Given the description of an element on the screen output the (x, y) to click on. 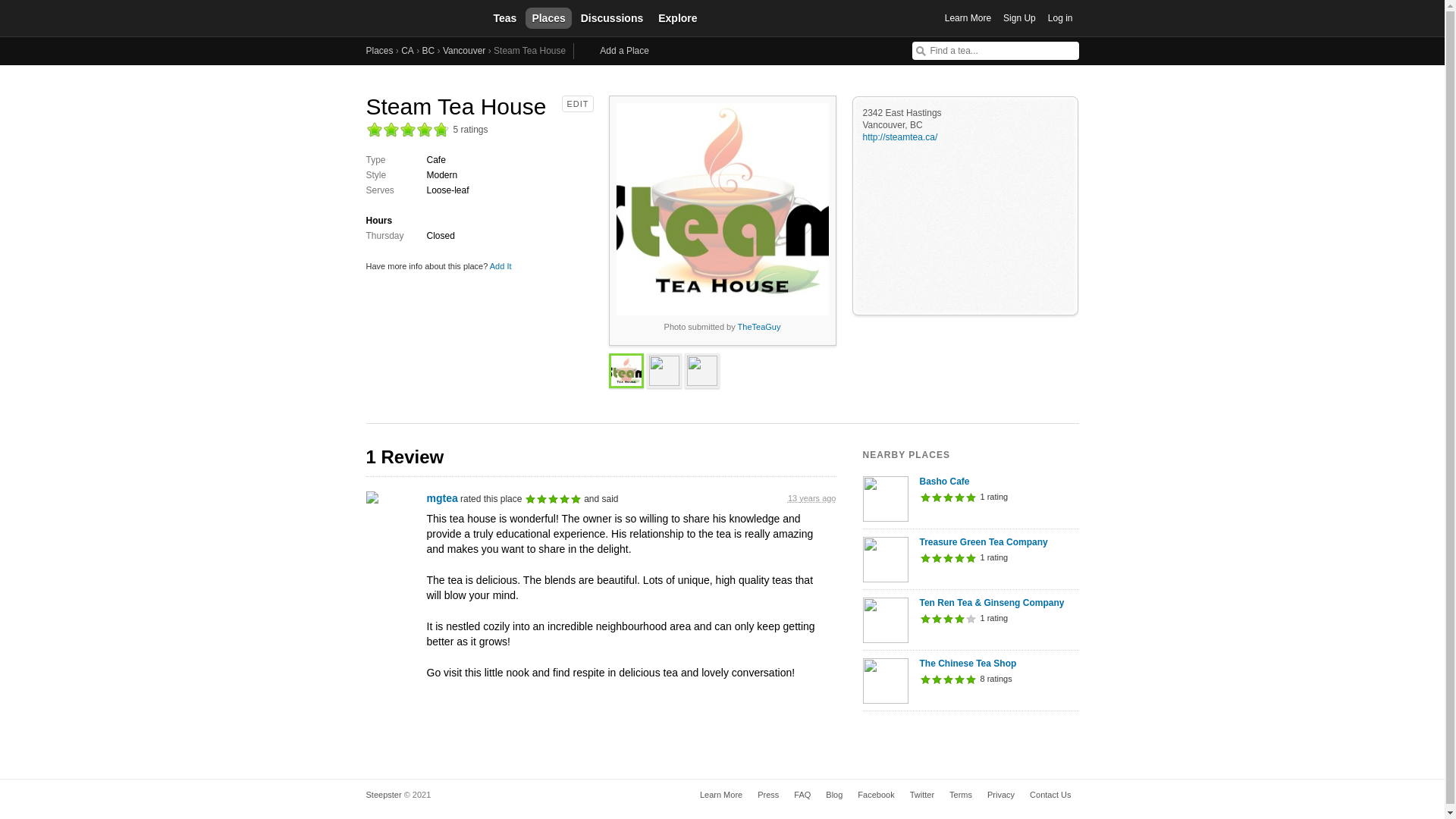
Vancouver (463, 50)
2012-01-31T01:27:48Z (811, 497)
Log in (1060, 18)
Link to Terms of Use (960, 794)
1 (373, 129)
2 (389, 129)
Treasure Green Tea Company (996, 542)
13 years ago (811, 497)
Basho Cafe (996, 481)
Take a Tour of Steepster (721, 794)
